Given the description of an element on the screen output the (x, y) to click on. 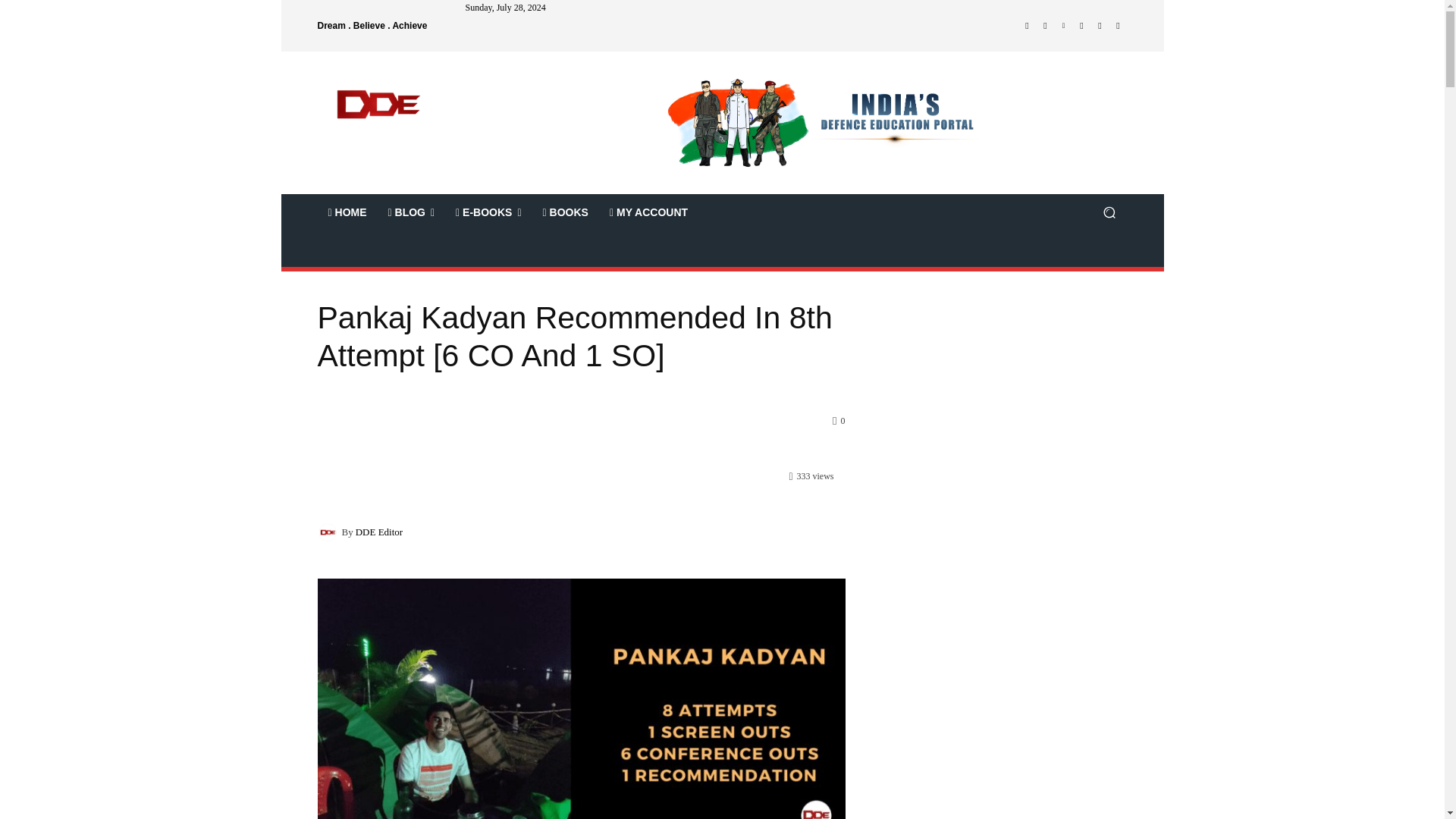
Pinterest (1062, 25)
HOME (347, 212)
Telegram (1080, 25)
Instagram (1044, 25)
E-BOOKS (488, 212)
Facebook (1026, 25)
BLOG (411, 212)
Youtube (1117, 25)
Twitter (1099, 25)
DDE editor (328, 531)
